Given the description of an element on the screen output the (x, y) to click on. 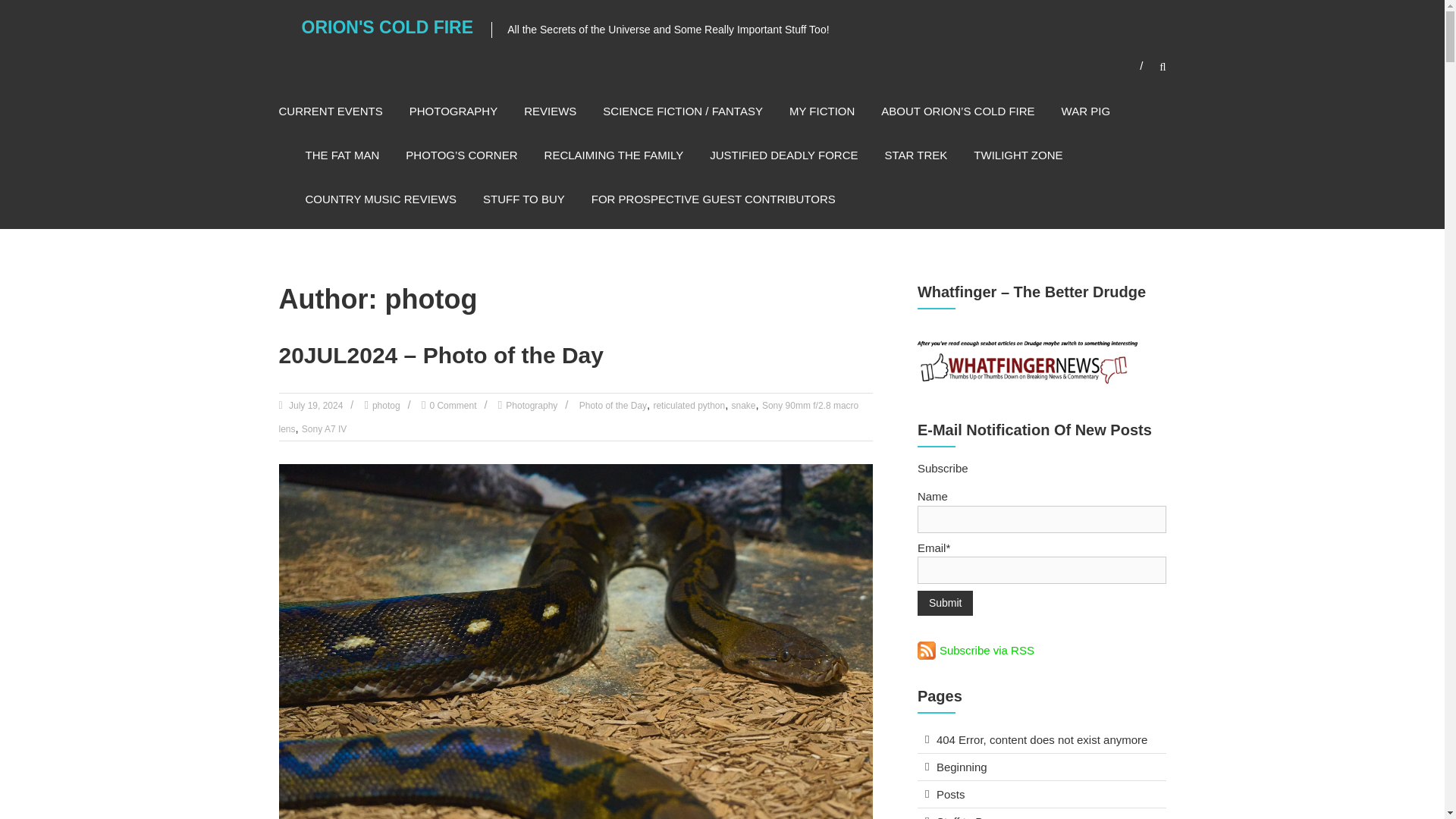
Orion's Cold Fire (387, 26)
REVIEWS (550, 111)
reticulated python (688, 405)
FOR PROSPECTIVE GUEST CONTRIBUTORS (713, 199)
WAR PIG (1085, 111)
RECLAIMING THE FAMILY (614, 155)
TWILIGHT ZONE (1018, 155)
COUNTRY MUSIC REVIEWS (379, 199)
THE FAT MAN (341, 155)
ORION'S COLD FIRE (387, 26)
Search (1232, 409)
MY FICTION (821, 111)
0 Comment (452, 405)
photog (386, 405)
snake (743, 405)
